Given the description of an element on the screen output the (x, y) to click on. 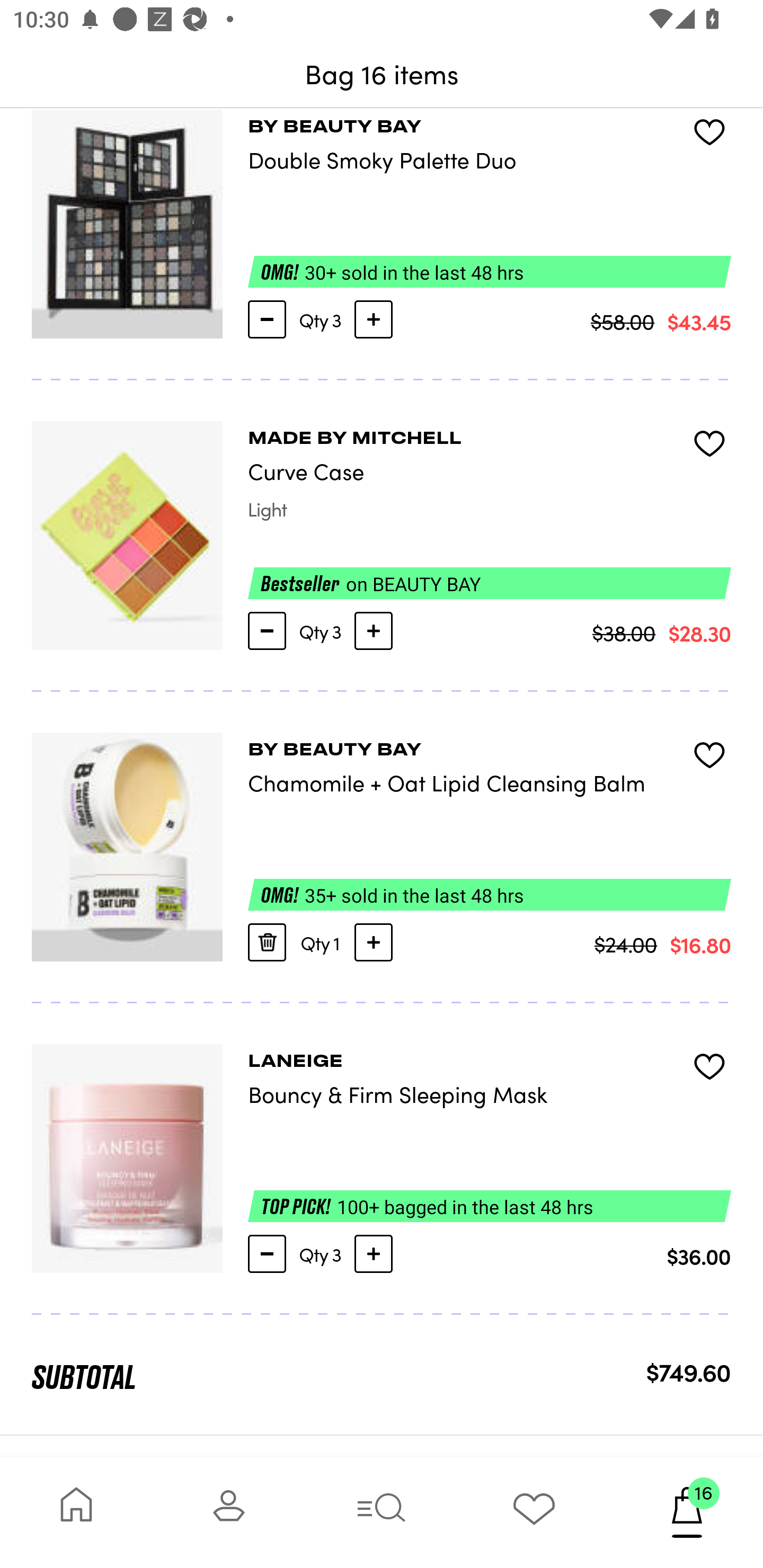
16 (686, 1512)
